Given the description of an element on the screen output the (x, y) to click on. 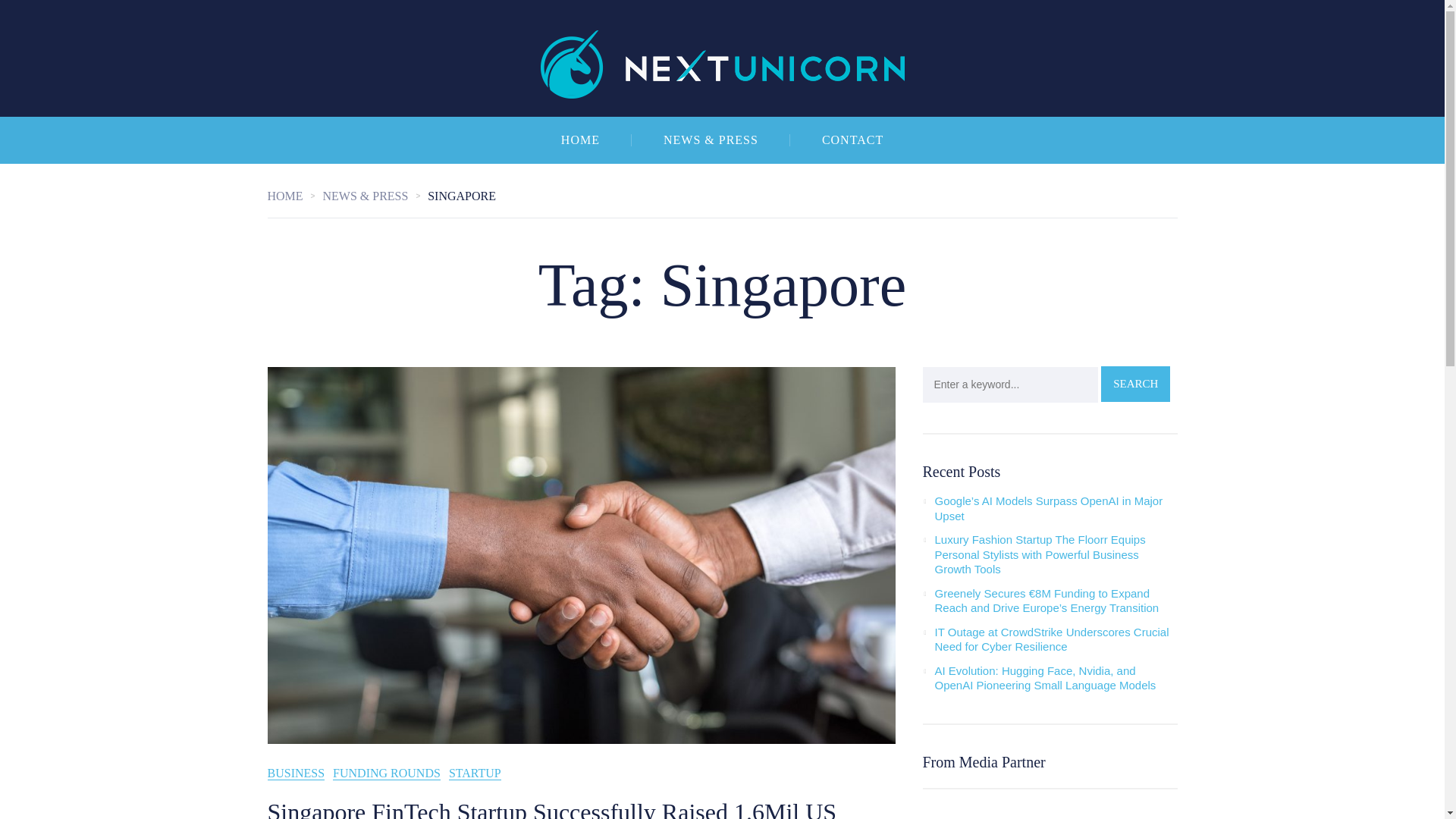
Search (1135, 384)
CONTACT (852, 140)
STARTUP (474, 773)
BUSINESS (295, 773)
Search (1135, 384)
NextUnicorn (722, 58)
HOME (293, 195)
FUNDING ROUNDS (387, 773)
HOME (580, 140)
Search (1135, 384)
